Given the description of an element on the screen output the (x, y) to click on. 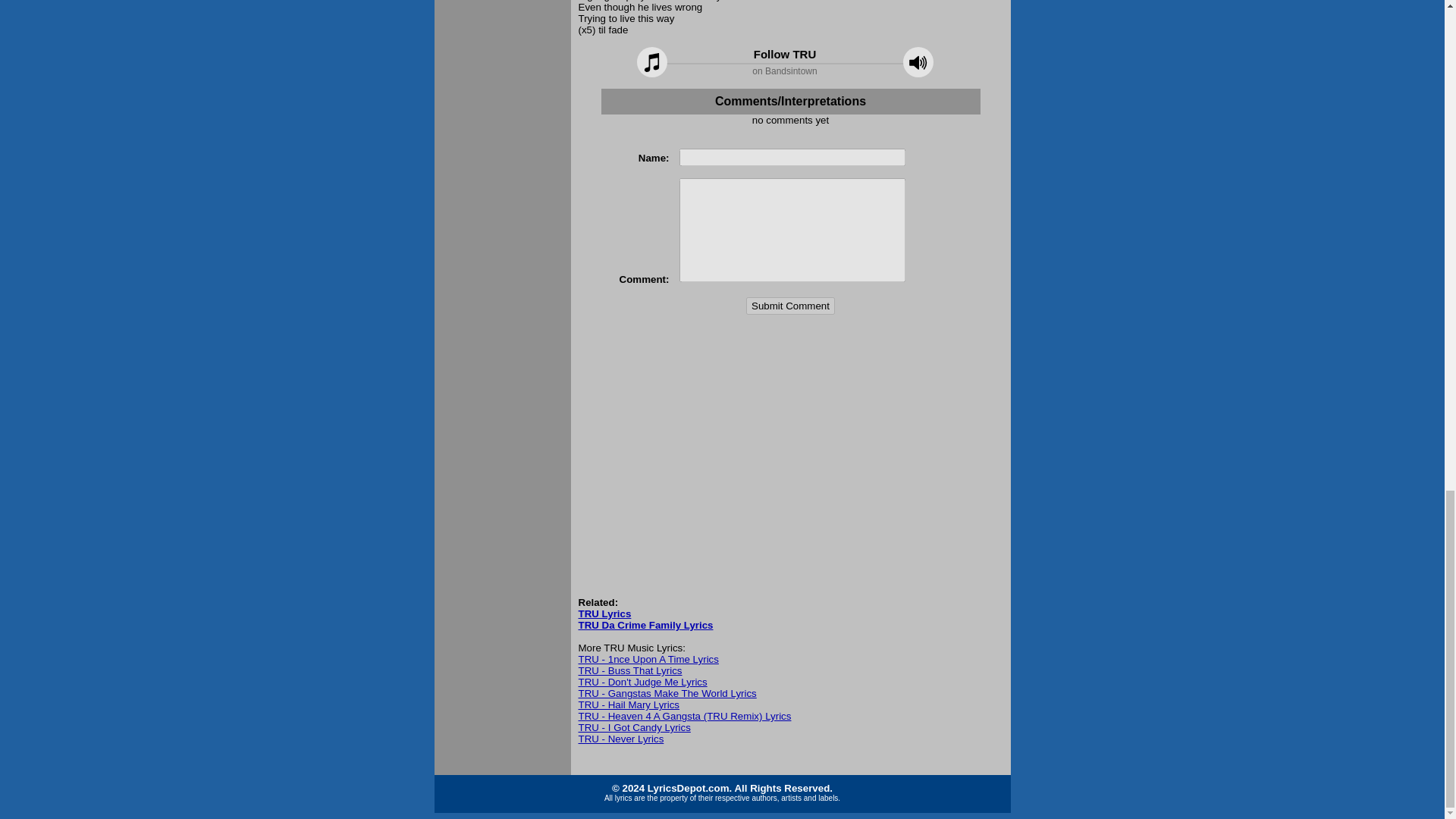
TRU - Buss That Lyrics (629, 670)
TRU - Never Lyrics (620, 738)
Submit Comment (789, 305)
TRU Lyrics (604, 613)
TRU Da Crime Family Lyrics (645, 624)
TRU - I Got Candy Lyrics (634, 727)
TRU - Hail Mary Lyrics (628, 704)
Submit Comment (789, 305)
TRU - 1nce Upon A Time Lyrics (647, 659)
TRU - Gangstas Make The World Lyrics (666, 693)
TRU - Don't Judge Me Lyrics (642, 681)
